Given the description of an element on the screen output the (x, y) to click on. 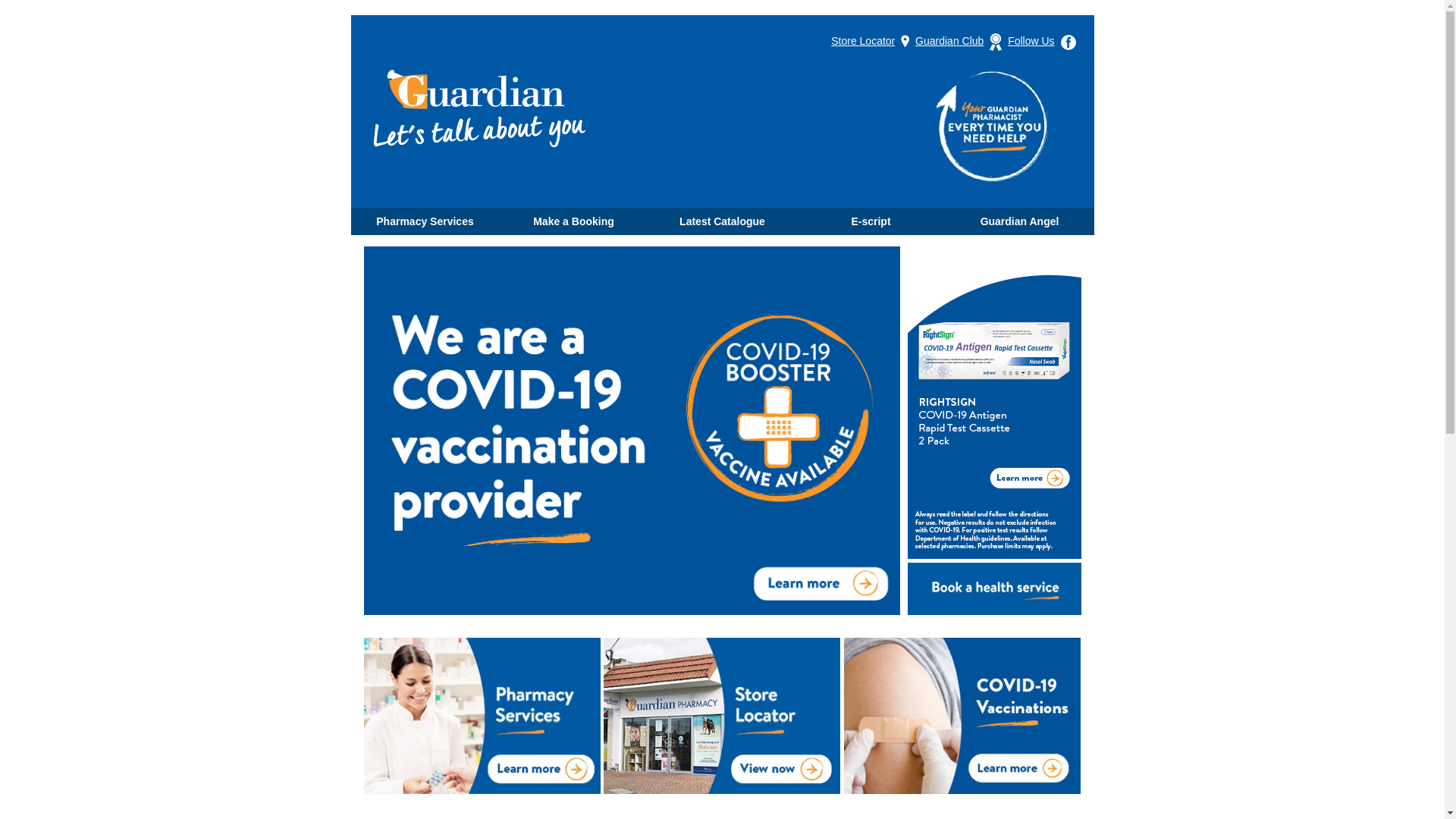
Book a service Element type: hover (993, 588)
Follow Us Element type: text (1042, 40)
Make a Booking Element type: text (573, 221)
Pharmacy Services Element type: text (424, 221)
Latest Catalogue Element type: text (721, 221)
Rapid Antigen Tests Element type: hover (993, 402)
Guardian Angel Element type: text (1018, 221)
Store Locator Element type: text (871, 40)
Guardian Club Element type: text (959, 40)
E-script Element type: text (870, 221)
Covid Vaccination Element type: hover (632, 430)
